Given the description of an element on the screen output the (x, y) to click on. 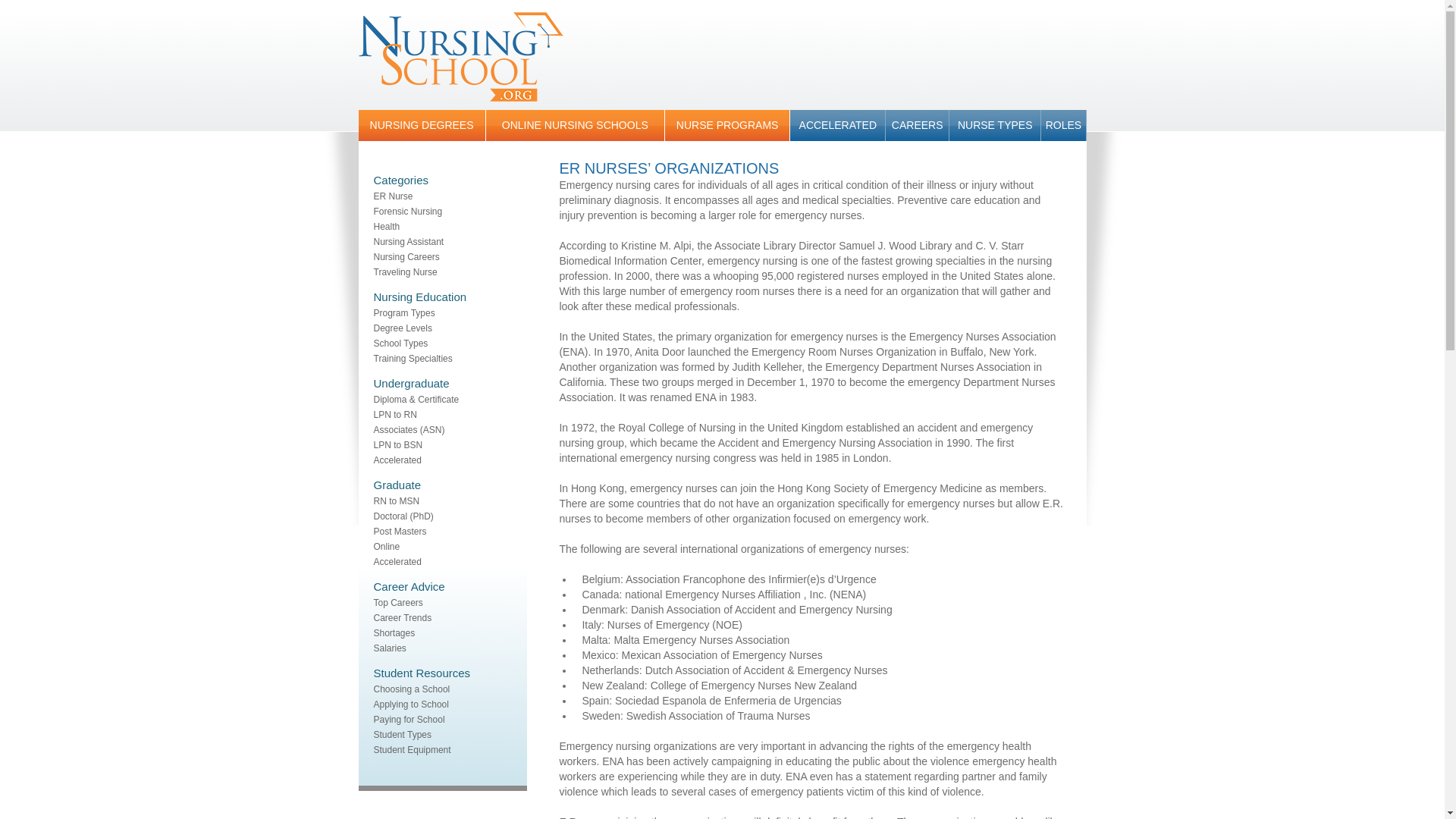
Salaries (389, 647)
Degree Levels (401, 327)
RN to MSN (395, 501)
Choosing a School (410, 688)
Health (385, 226)
School Types (400, 343)
Post Masters (399, 531)
Accelerated (396, 460)
NURSE PROGRAMS (727, 124)
Career Trends (401, 617)
Training Specialties (411, 357)
Traveling Nurse (404, 271)
ROLES (1062, 124)
CAREERS (917, 124)
Shortages (393, 633)
